Given the description of an element on the screen output the (x, y) to click on. 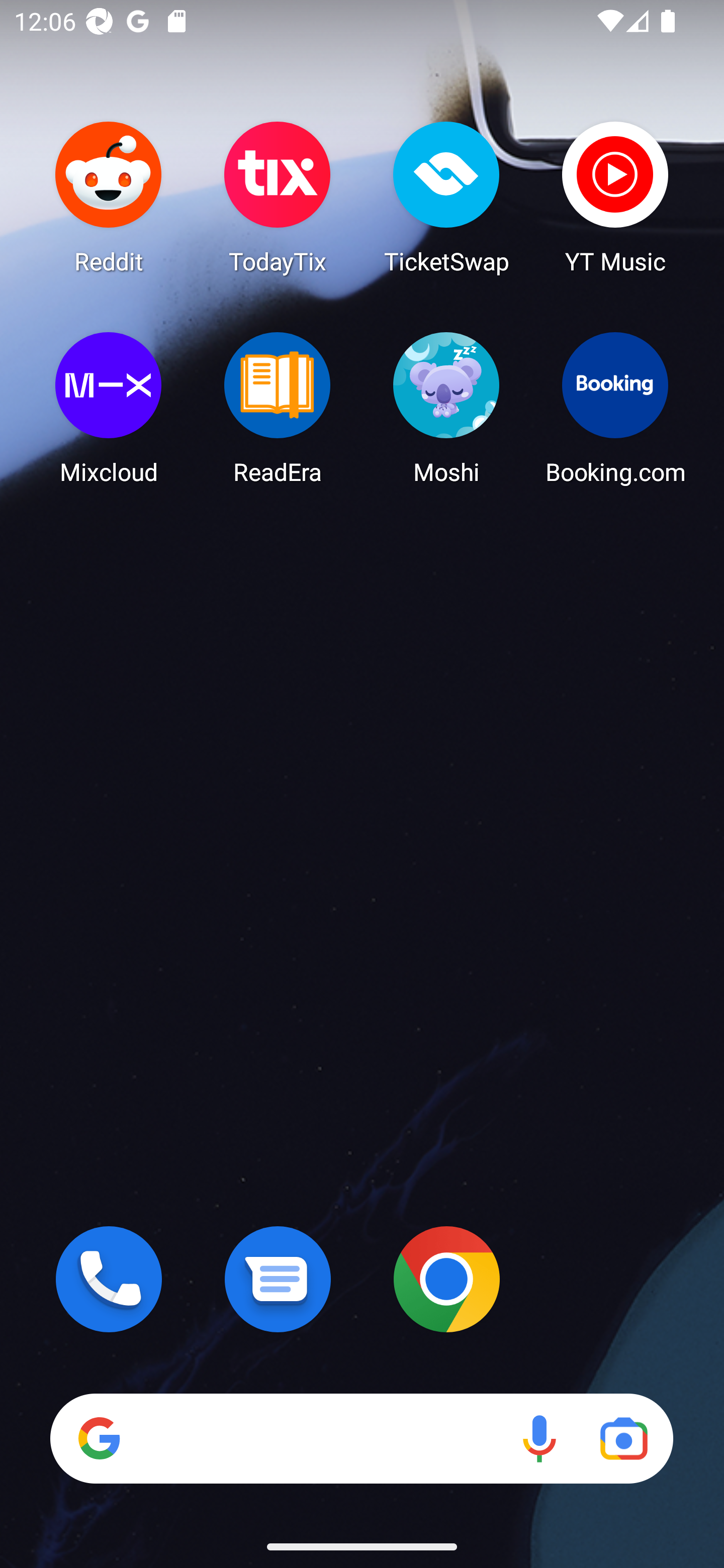
Reddit (108, 196)
TodayTix (277, 196)
TicketSwap (445, 196)
YT Music (615, 196)
Mixcloud (108, 407)
ReadEra (277, 407)
Moshi (445, 407)
Booking.com (615, 407)
Phone (108, 1279)
Messages (277, 1279)
Chrome (446, 1279)
Search Voice search Google Lens (361, 1438)
Voice search (539, 1438)
Google Lens (623, 1438)
